Given the description of an element on the screen output the (x, y) to click on. 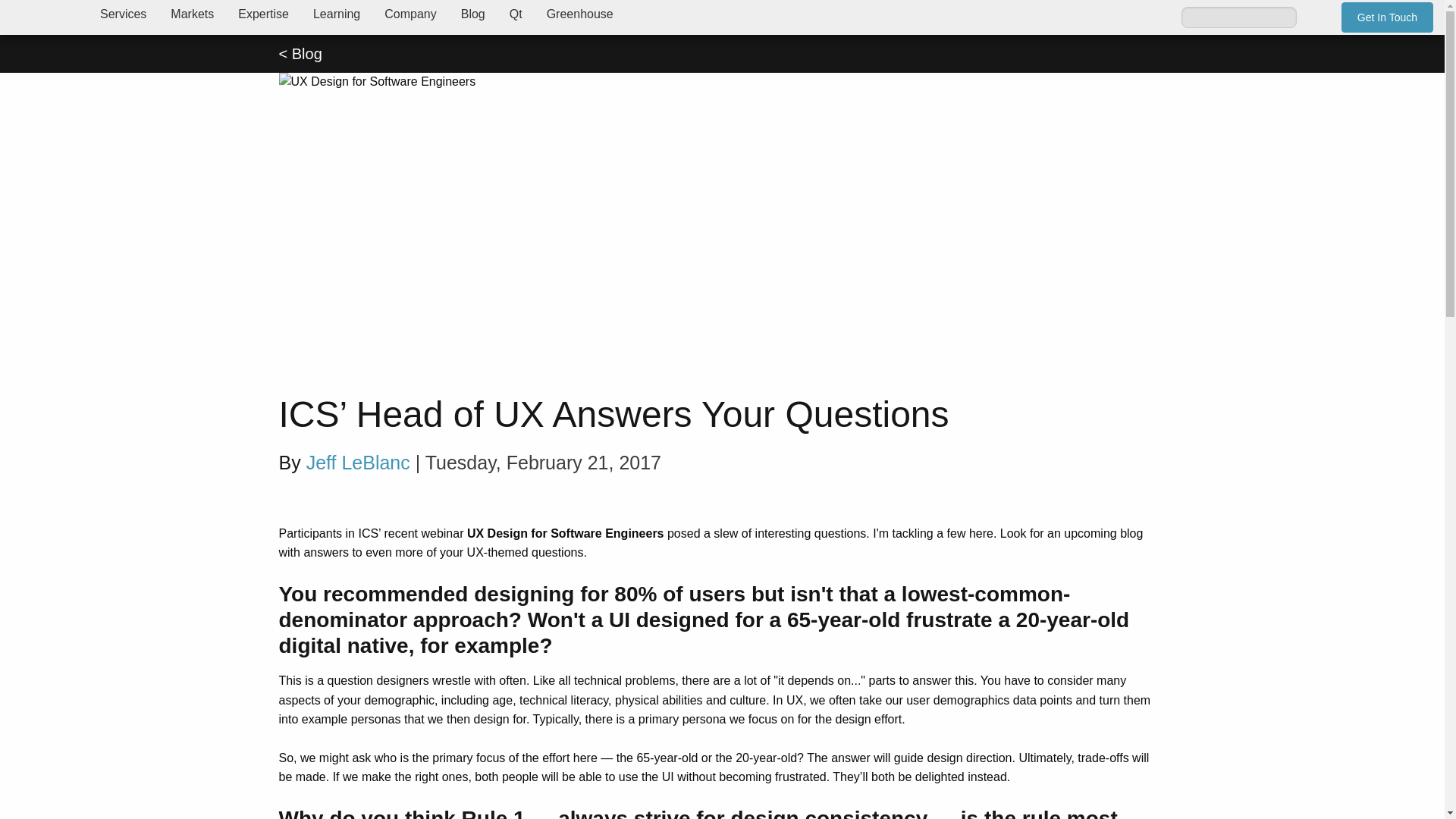
Search (1315, 16)
ICS (44, 17)
Services (122, 14)
Search (1315, 16)
Get In Touch (1386, 17)
Expertise (263, 14)
Enter the terms you wish to search for. (1238, 16)
Greenhouse (580, 14)
Company (410, 14)
Markets (191, 14)
Qt (515, 14)
Learning (336, 14)
Blog (472, 14)
